Given the description of an element on the screen output the (x, y) to click on. 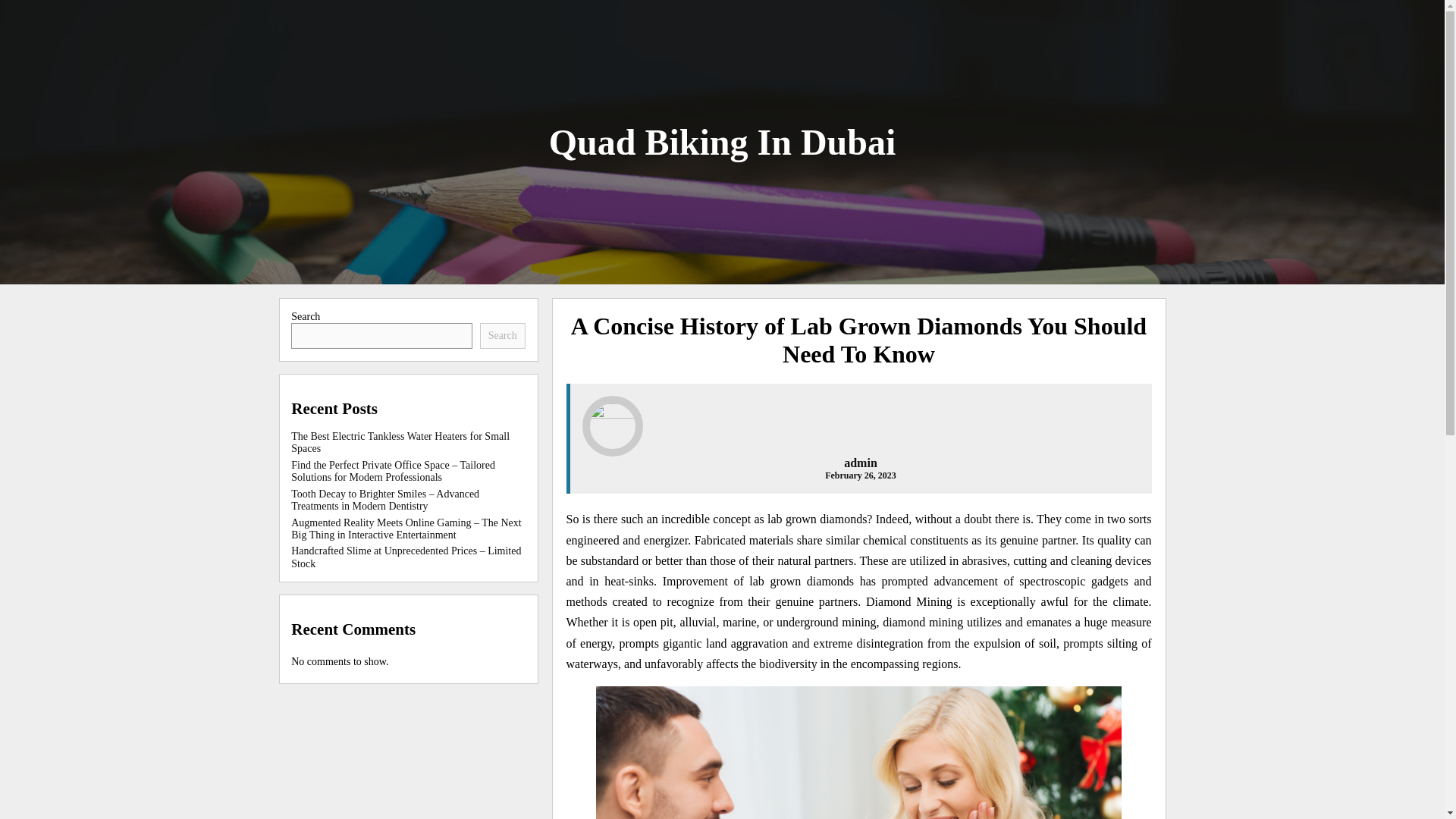
February 26, 2023 (860, 475)
The Best Electric Tankless Water Heaters for Small Spaces (400, 442)
12:02 pm (860, 475)
Quad Biking In Dubai (722, 142)
View all posts by admin (860, 462)
Search (502, 335)
admin (860, 462)
